Given the description of an element on the screen output the (x, y) to click on. 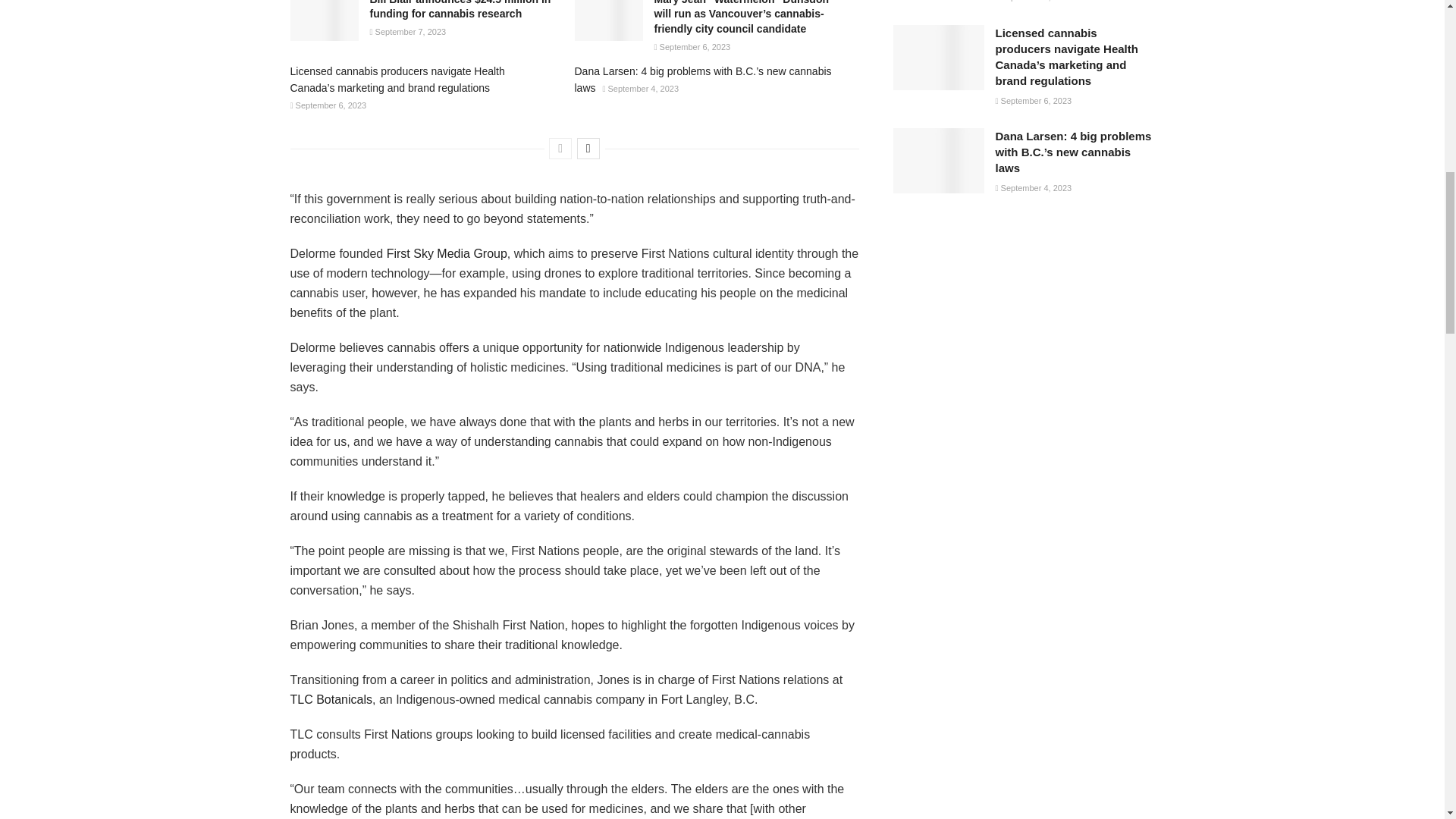
Next (587, 148)
Previous (560, 148)
